Given the description of an element on the screen output the (x, y) to click on. 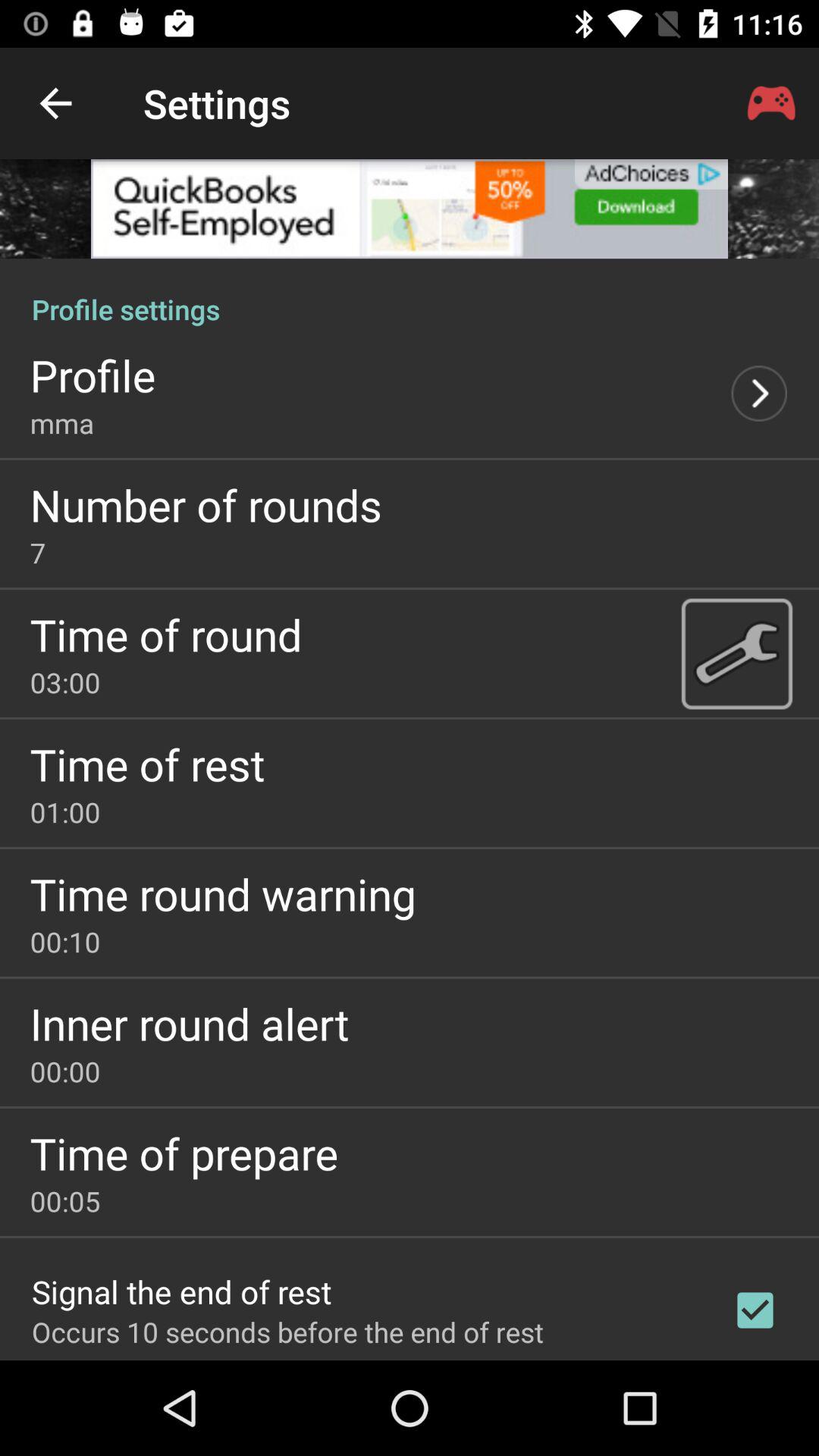
advertisement page (409, 208)
